Given the description of an element on the screen output the (x, y) to click on. 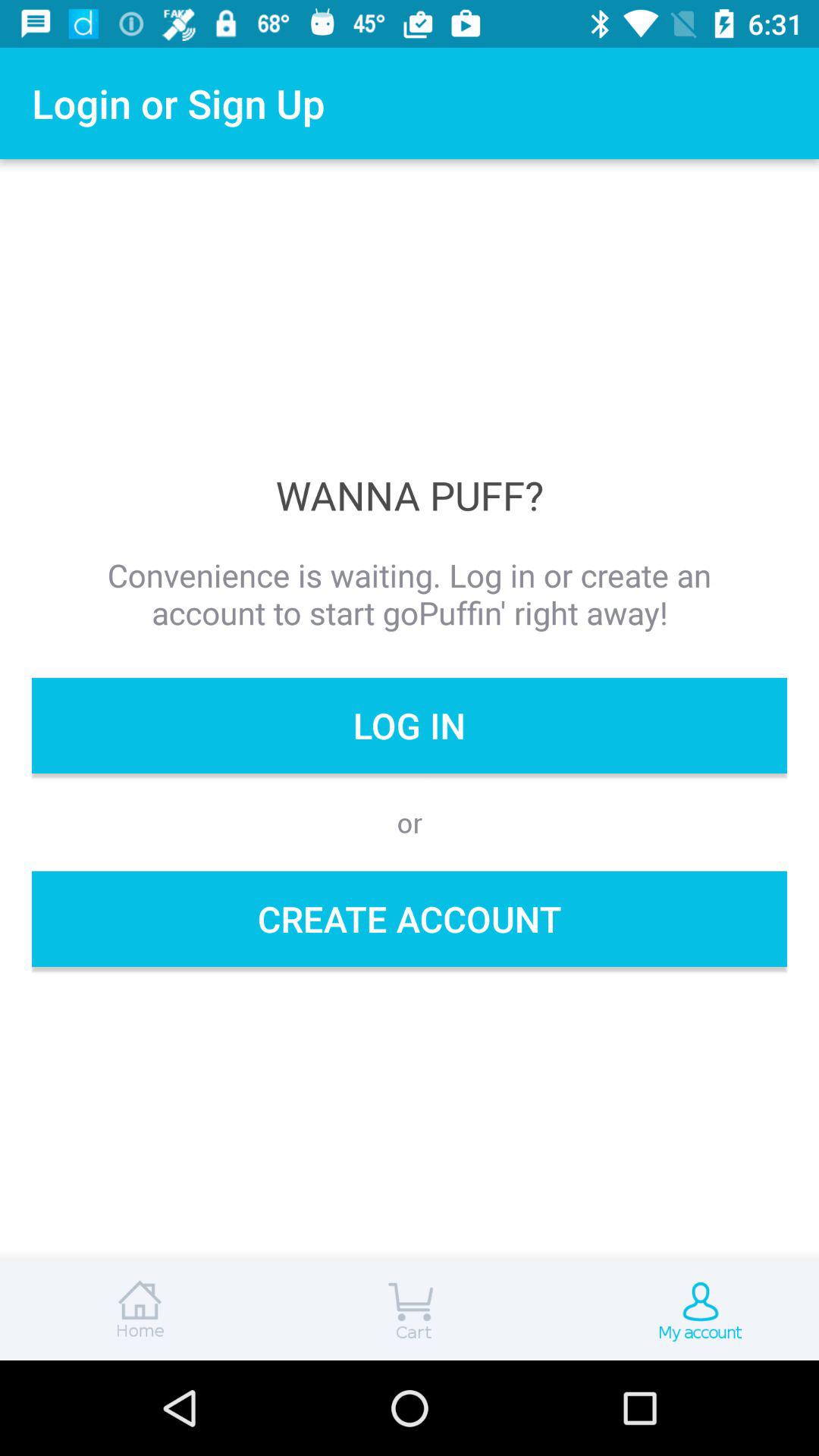
open cart (409, 1310)
